Given the description of an element on the screen output the (x, y) to click on. 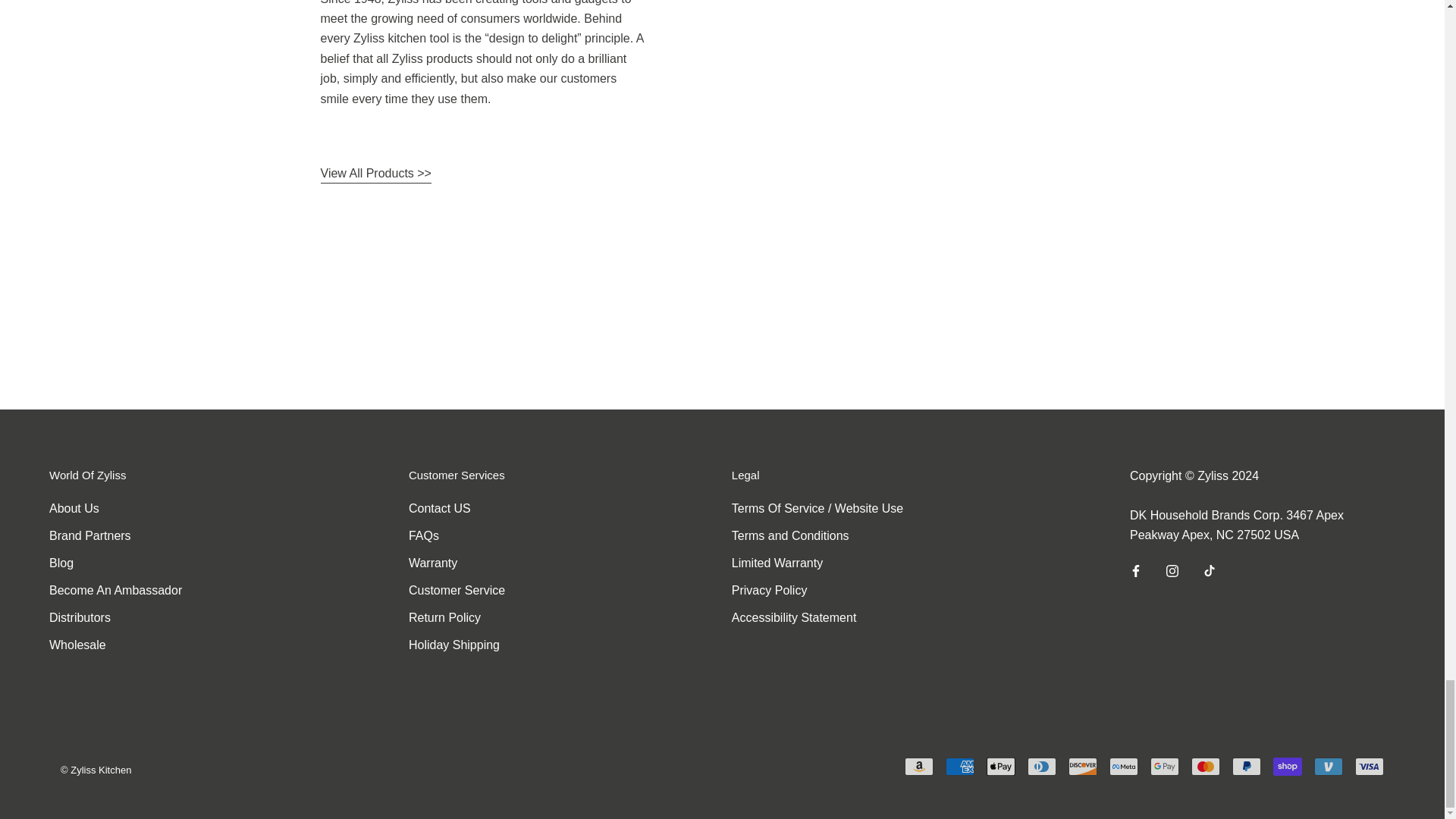
Amazon (918, 766)
Discover (1082, 766)
Apple Pay (1000, 766)
Google Pay (1164, 766)
Diners Club (1042, 766)
Meta Pay (1123, 766)
American Express (959, 766)
